Given the description of an element on the screen output the (x, y) to click on. 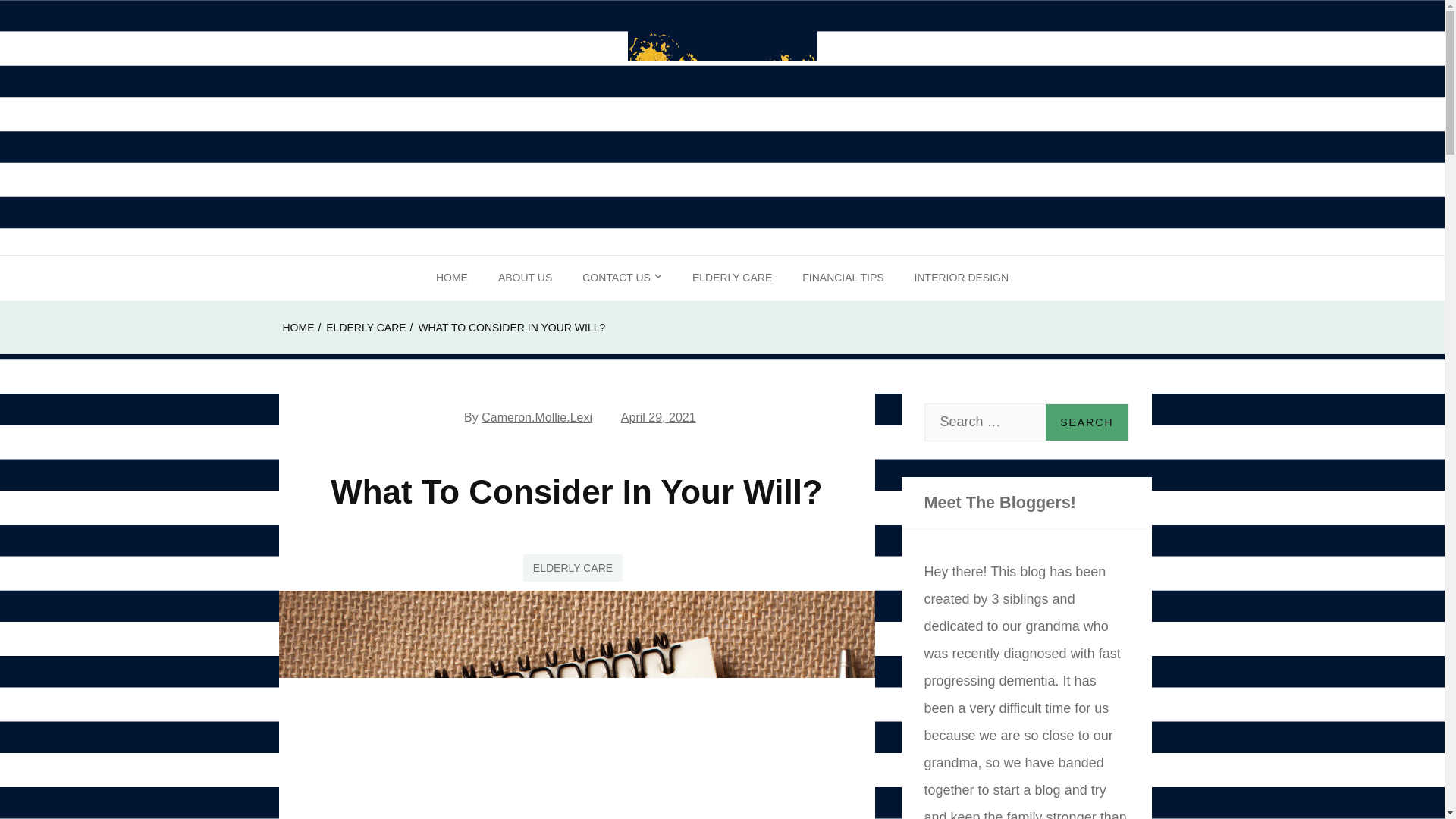
By Grandchildren (139, 279)
WHAT TO CONSIDER IN YOUR WILL? (511, 327)
FINANCIAL TIPS (842, 278)
ABOUT US (525, 278)
ELDERLY CARE (572, 567)
Search (1085, 422)
CONTACT US (622, 278)
Cameron.Mollie.Lexi (536, 417)
INTERIOR DESIGN (961, 278)
Search (1085, 422)
HOME (298, 327)
April 29, 2021 (658, 417)
ELDERLY CARE (732, 278)
PRIVACY POLICY (627, 323)
ELDERLY CARE (366, 327)
